Given the description of an element on the screen output the (x, y) to click on. 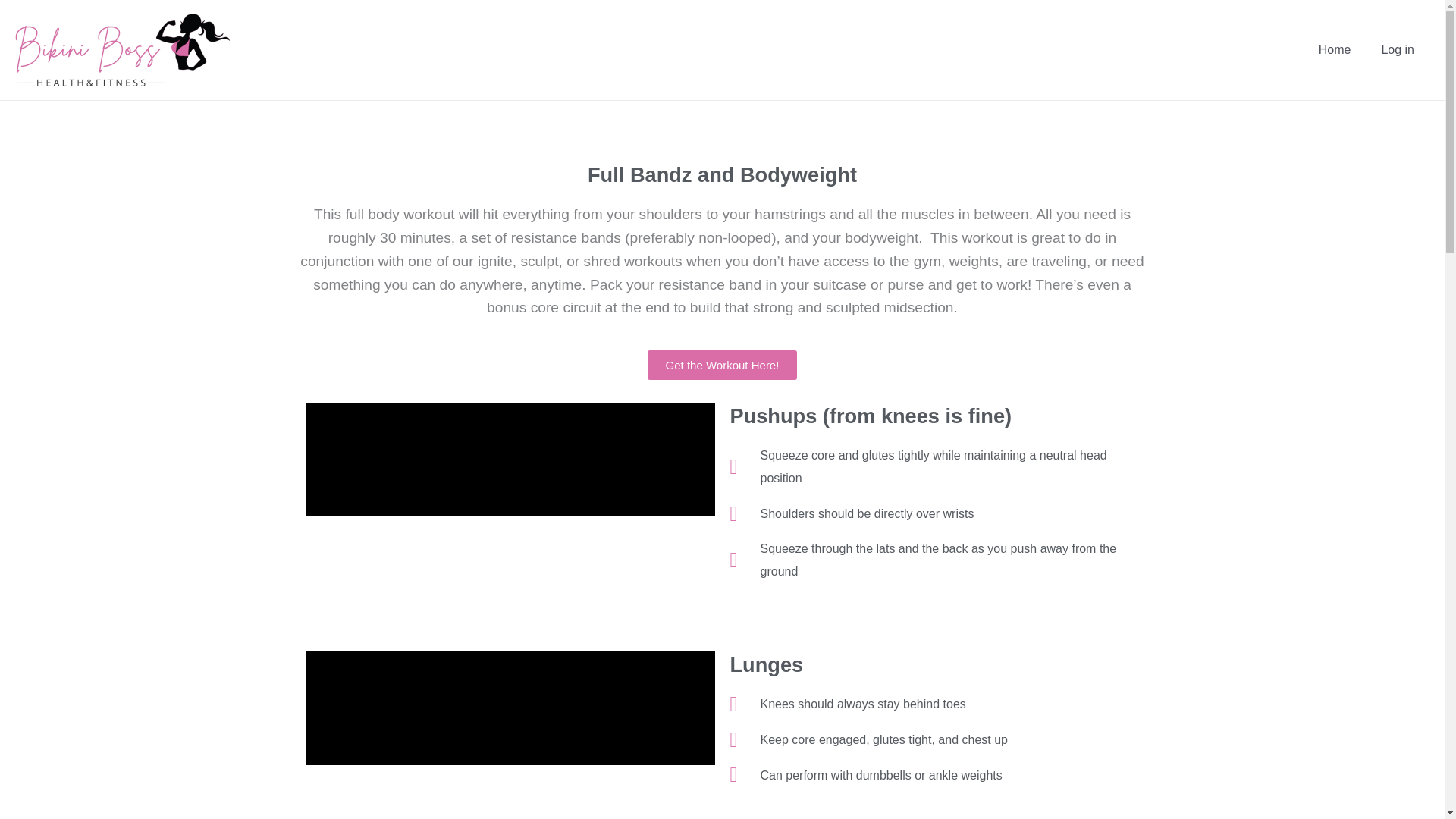
vimeo Video Player (509, 707)
vimeo Video Player (509, 459)
Get the Workout Here! (722, 365)
